Given the description of an element on the screen output the (x, y) to click on. 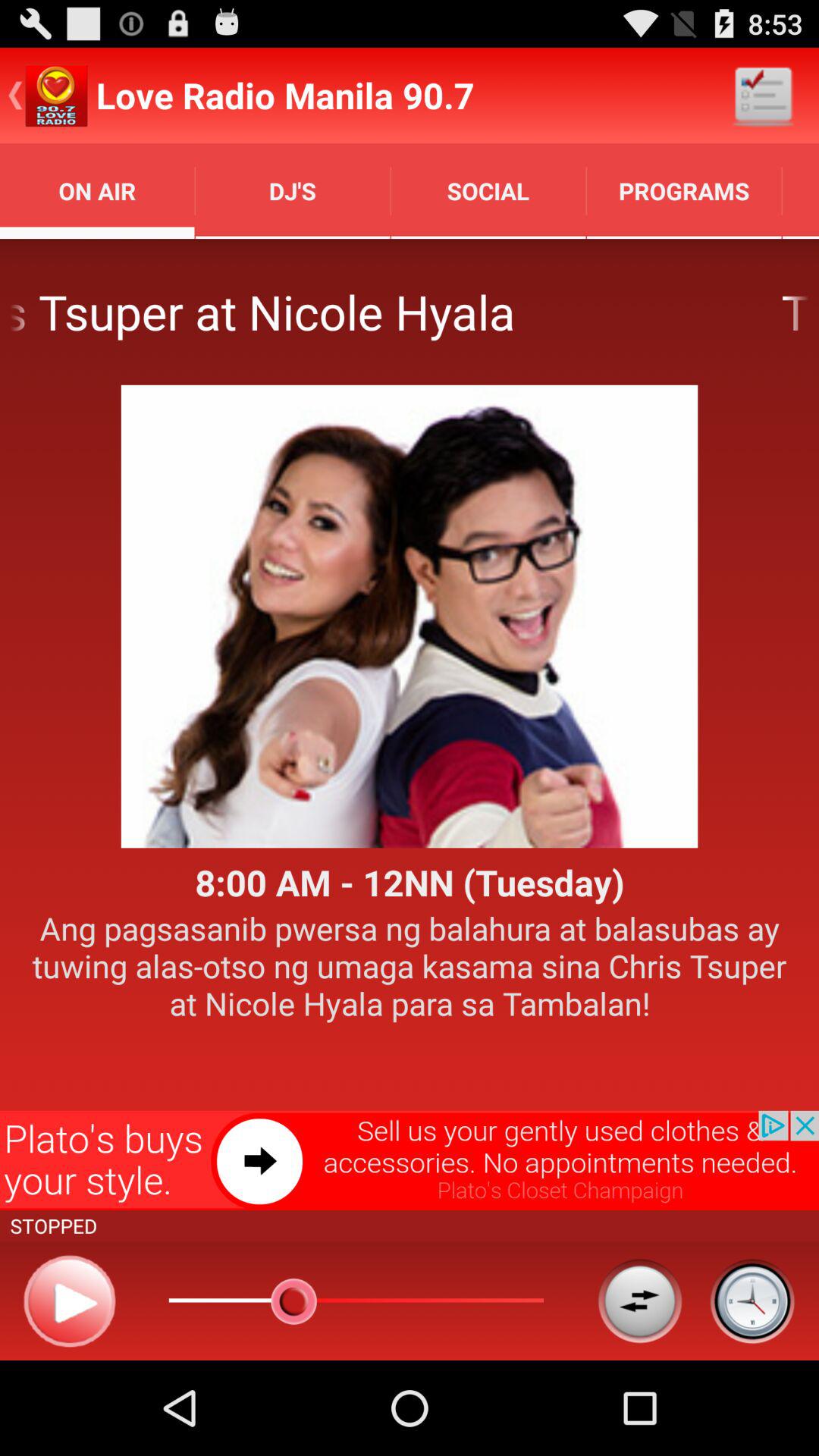
open icon to the right of love radio manila icon (763, 95)
